Given the description of an element on the screen output the (x, y) to click on. 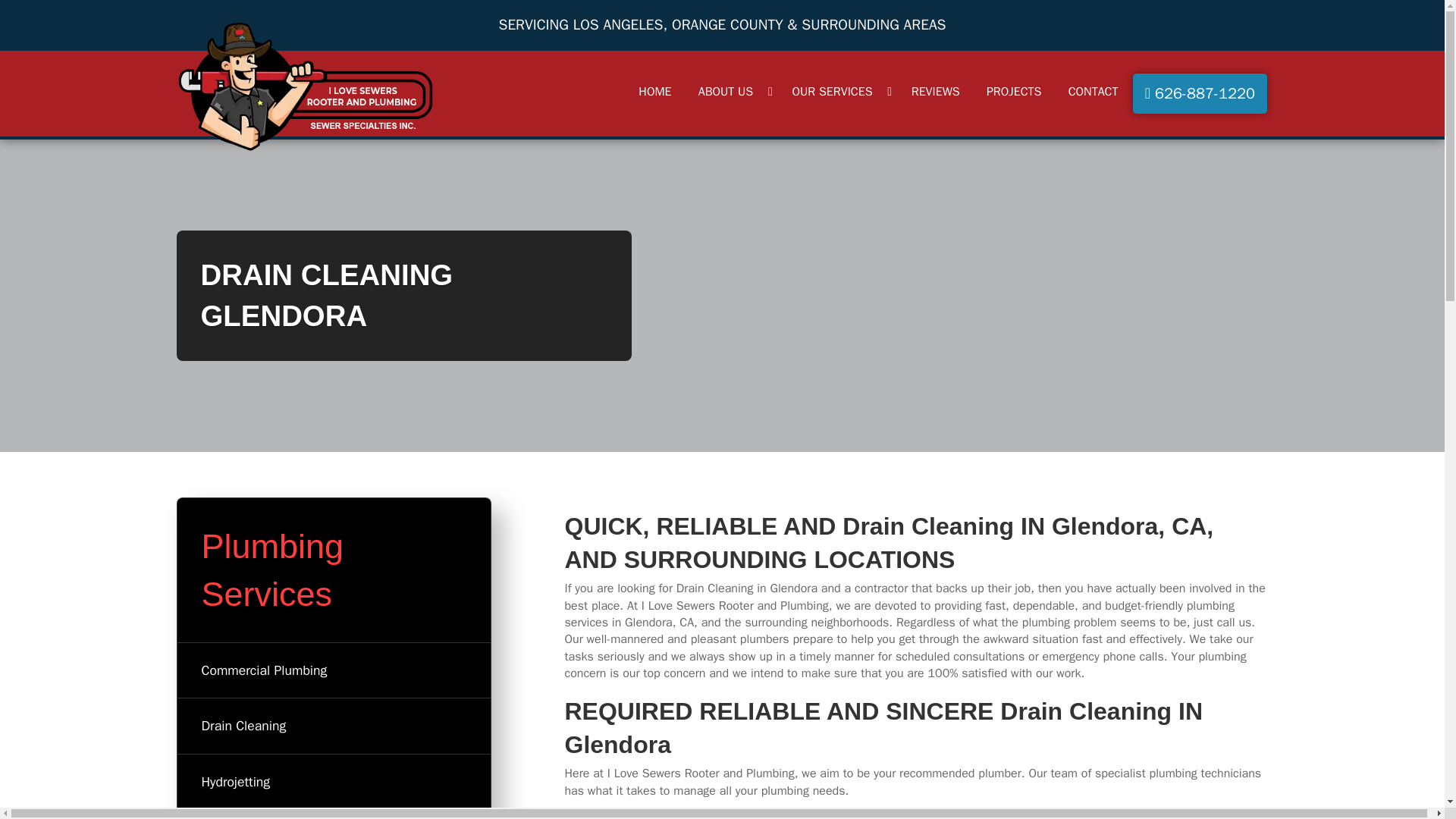
ABOUT US (731, 91)
Drain Cleaning (334, 725)
Hydrojetting (334, 781)
626-887-1220 (1199, 93)
Commercial Plumbing (334, 670)
CONTACT (1094, 91)
HOME (654, 91)
PROJECTS (1014, 91)
OUR SERVICES (837, 91)
REVIEWS (935, 91)
